Given the description of an element on the screen output the (x, y) to click on. 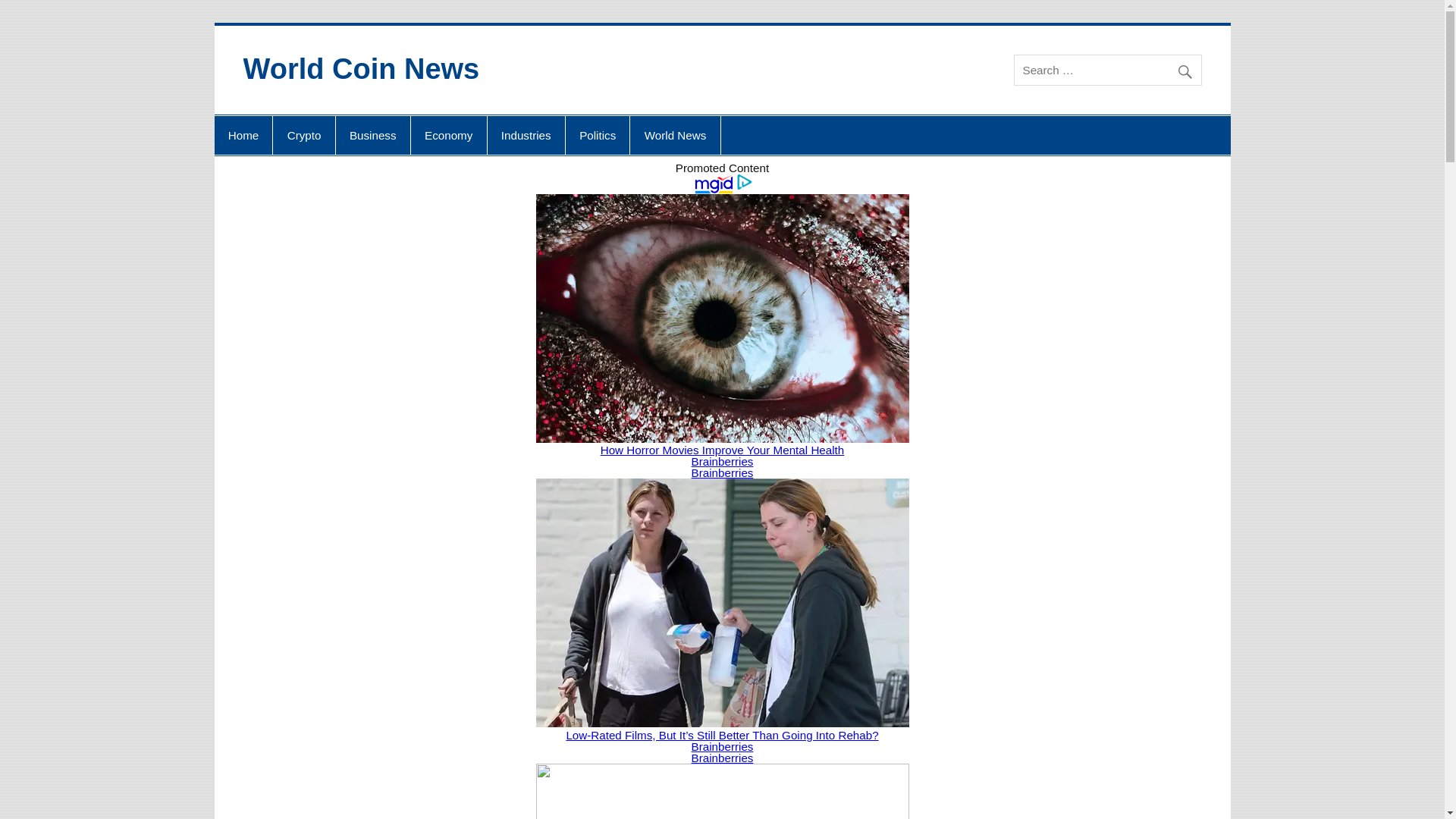
Business (373, 135)
Economy (448, 135)
Politics (598, 135)
Home (243, 135)
Crypto (303, 135)
World Coin News (361, 69)
World News (674, 135)
Industries (525, 135)
